Given the description of an element on the screen output the (x, y) to click on. 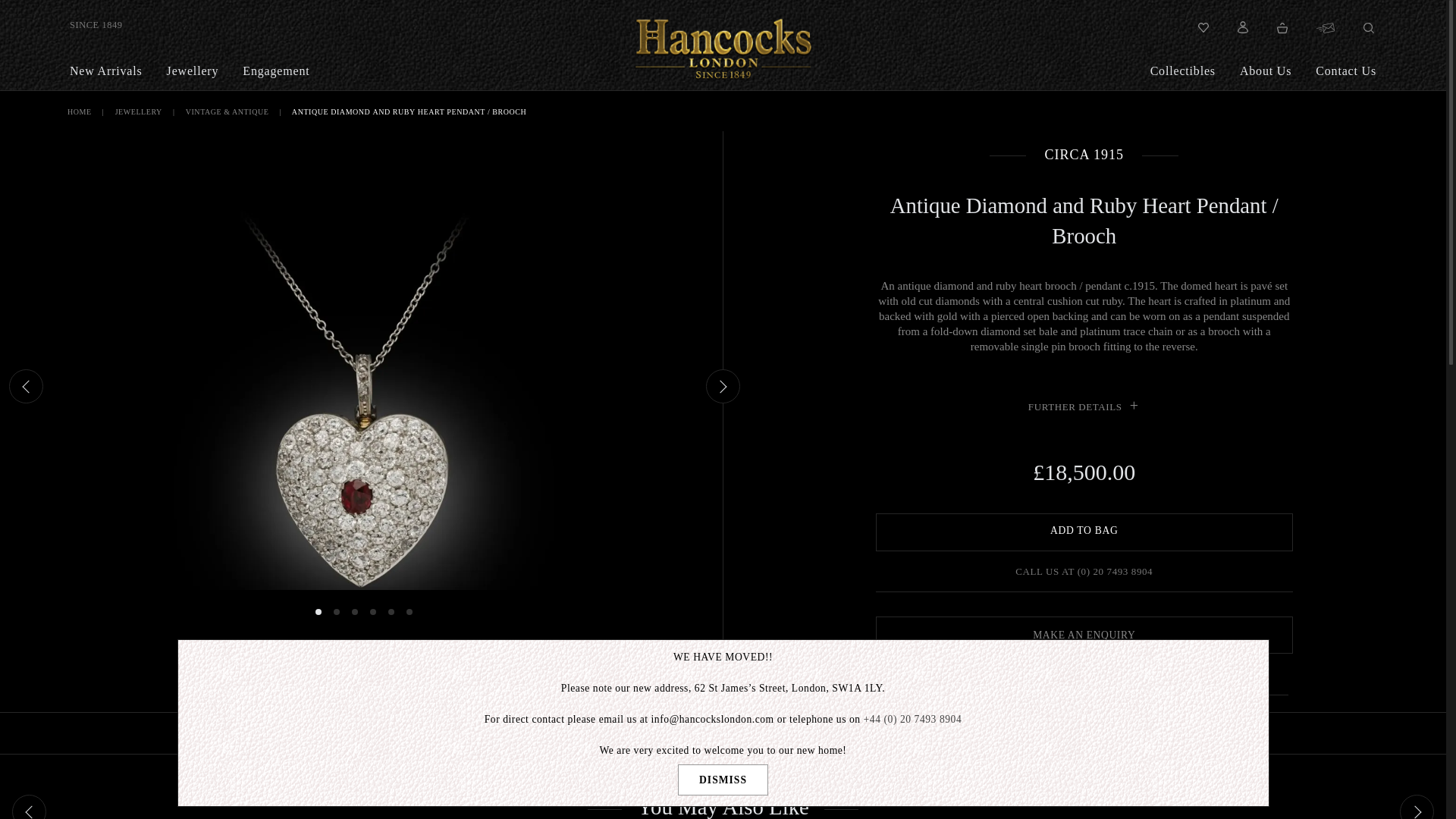
NEWSLETTER (1325, 27)
